Given the description of an element on the screen output the (x, y) to click on. 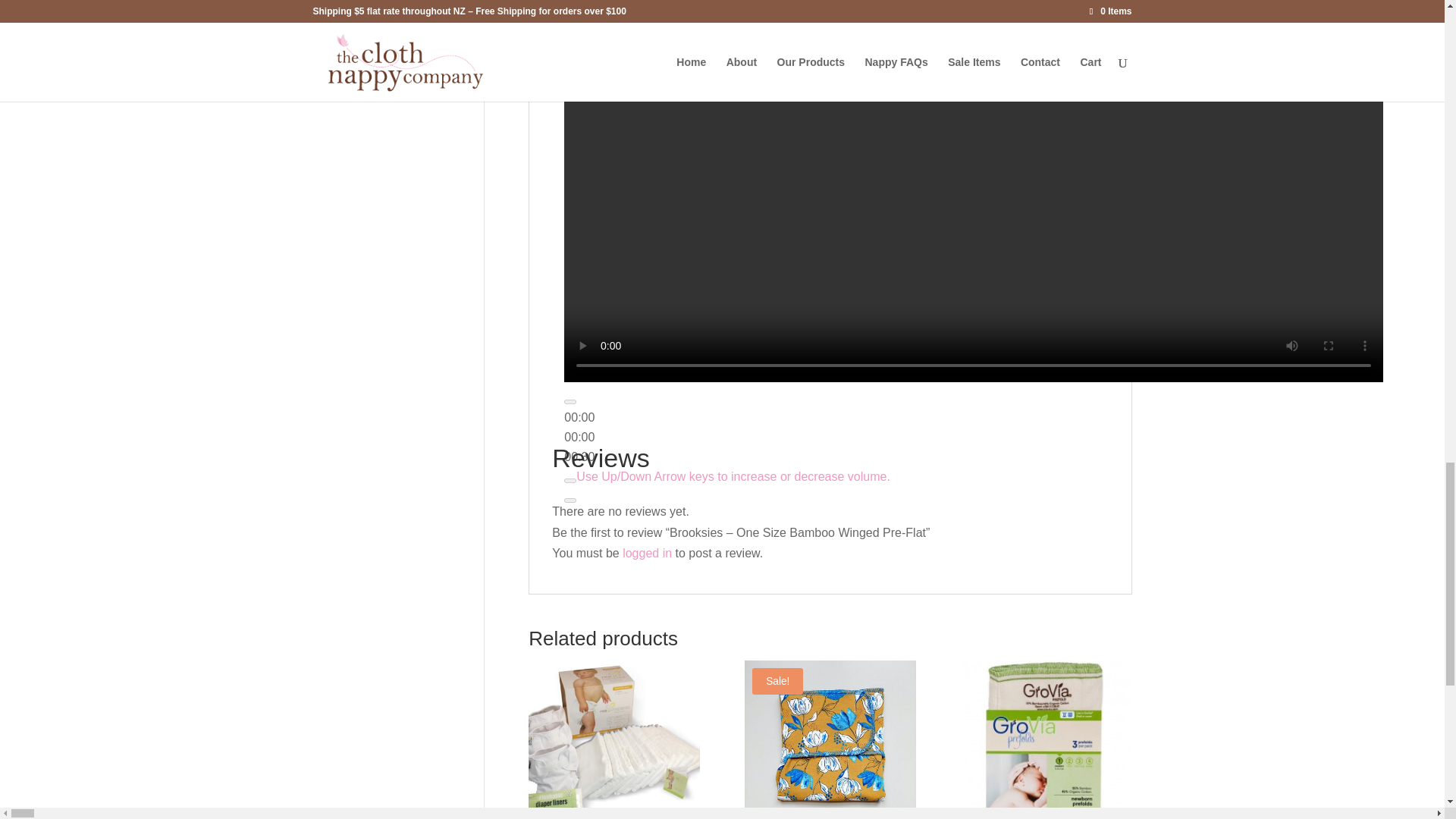
Mute (570, 480)
Play (570, 401)
logged in (647, 553)
Fullscreen (570, 499)
